Given the description of an element on the screen output the (x, y) to click on. 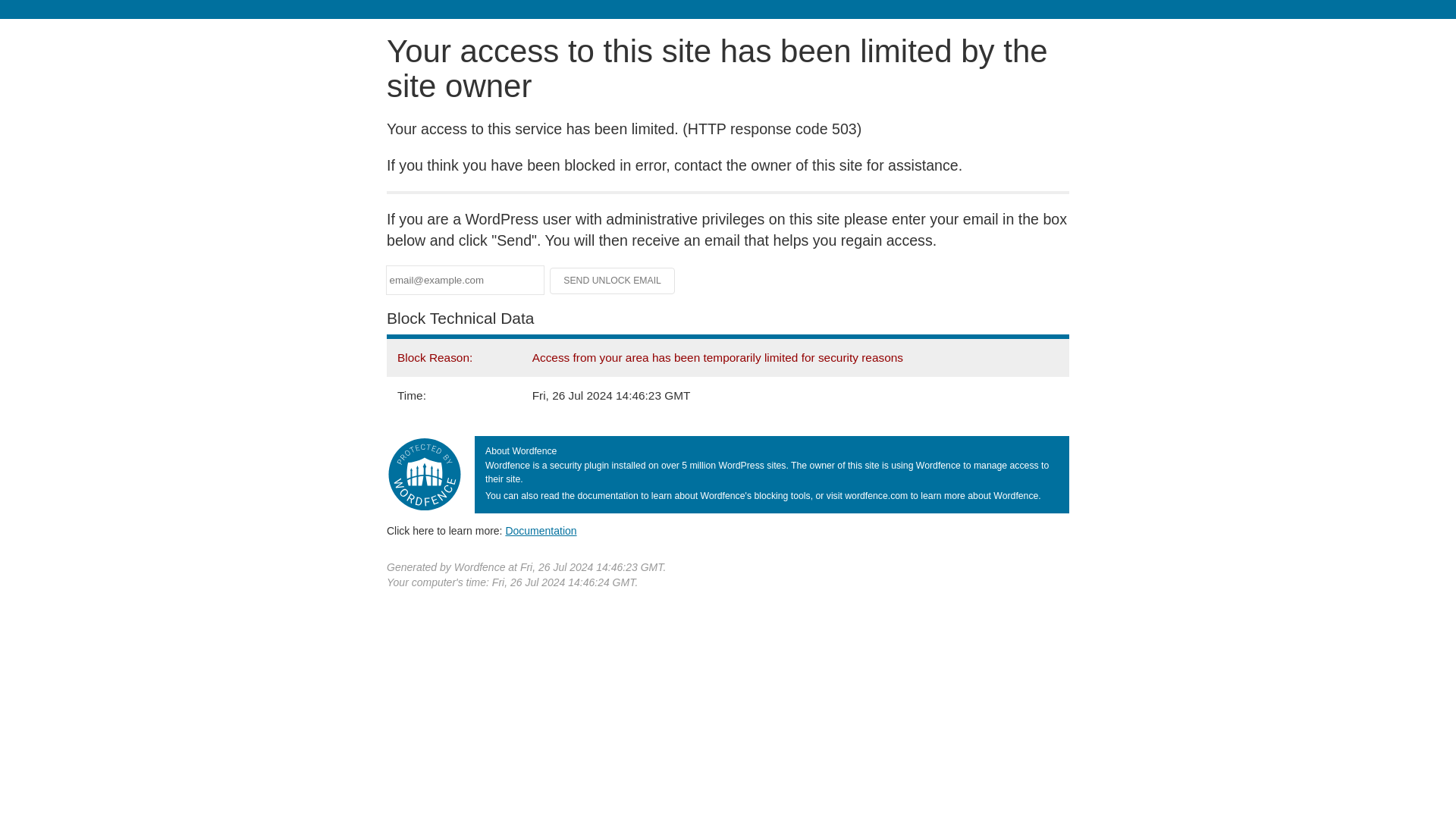
Send Unlock Email (612, 280)
Send Unlock Email (612, 280)
